Given the description of an element on the screen output the (x, y) to click on. 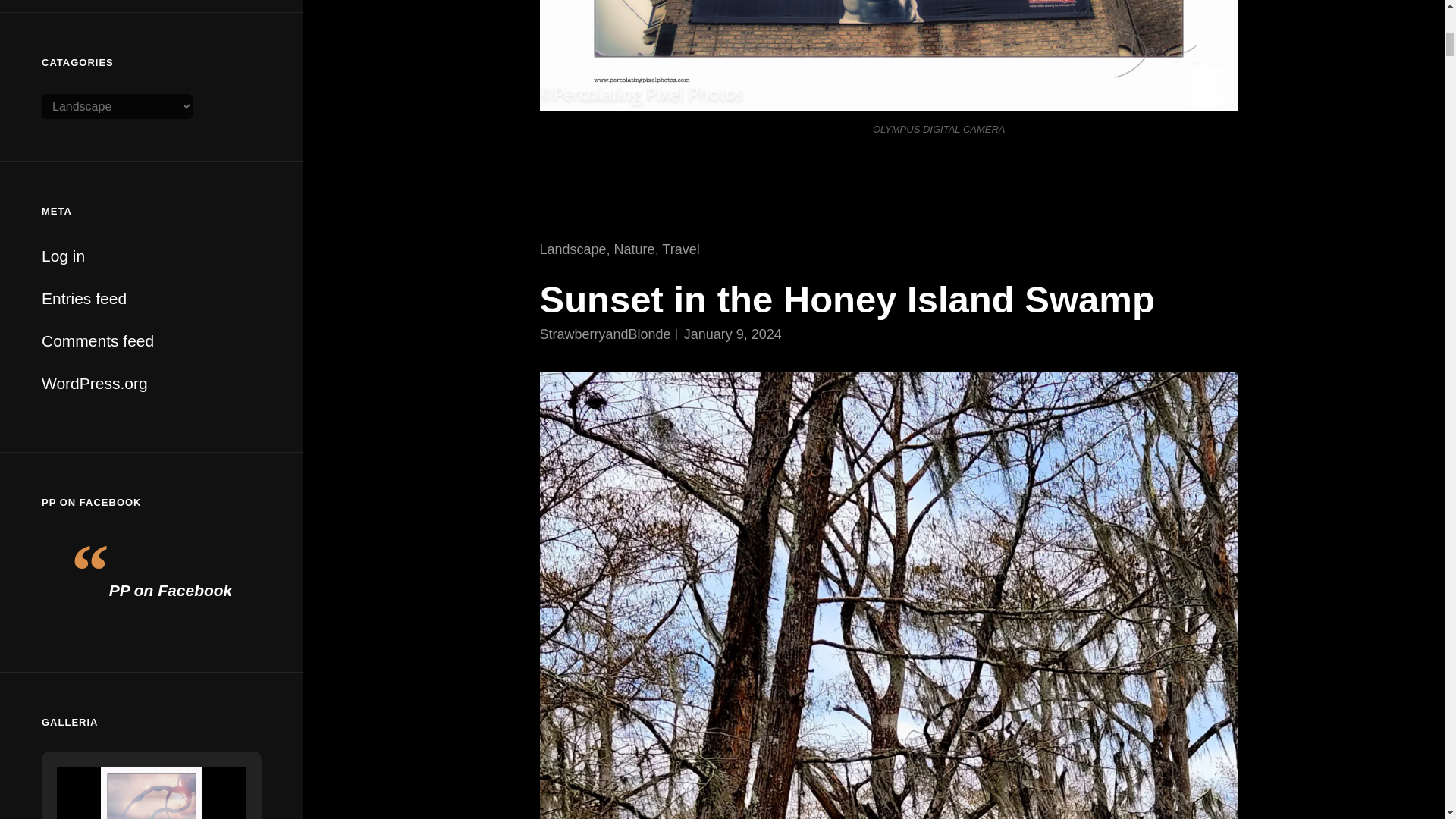
Travel (680, 249)
Landscape (573, 249)
January 9, 2024 (732, 334)
Sunset in the Honey Island Swamp (847, 299)
StrawberryandBlonde (605, 334)
Nature (634, 249)
